Given the description of an element on the screen output the (x, y) to click on. 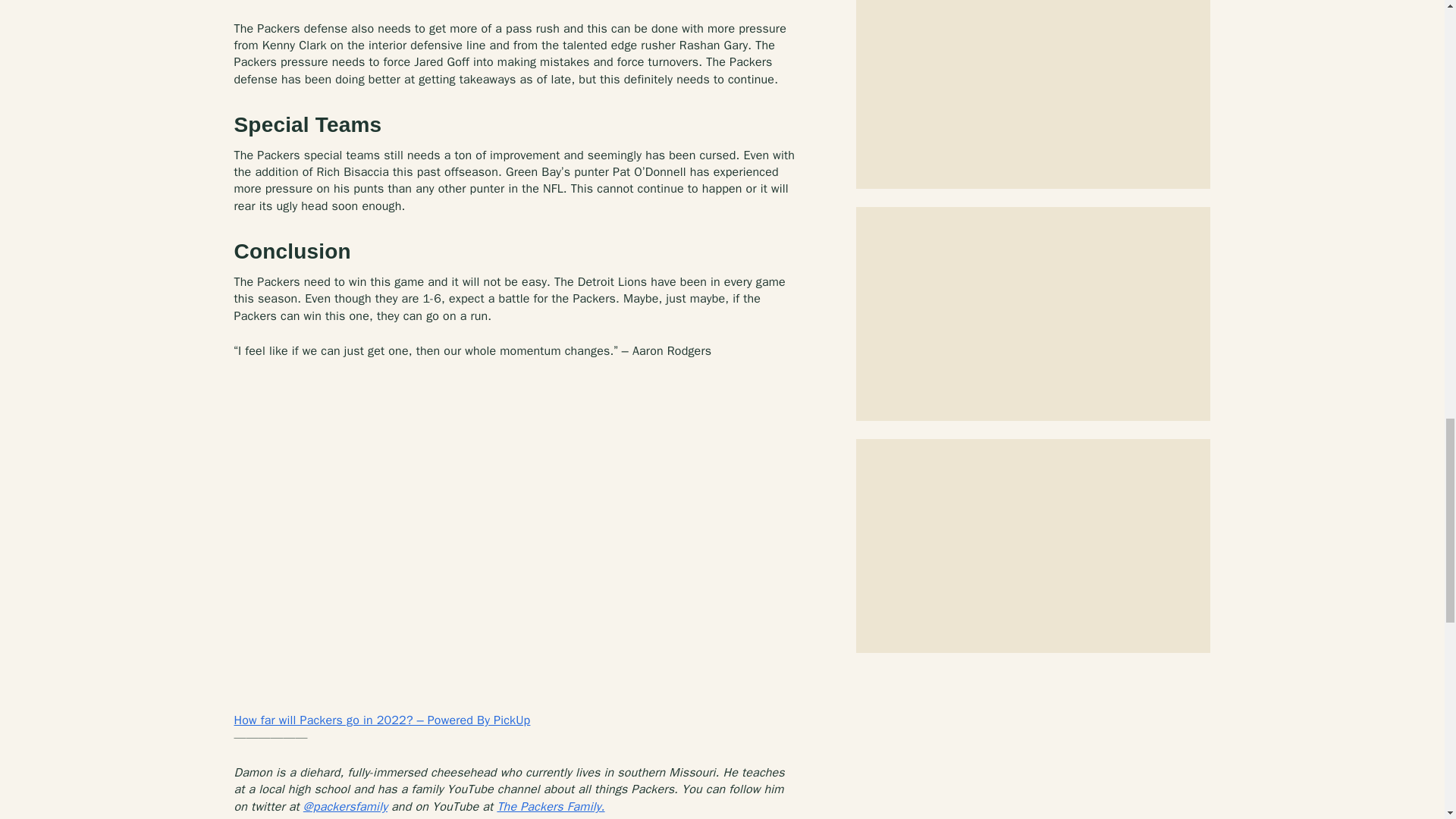
How far will Packers go in 2022? - Powered By PickUp (380, 720)
The Packers Family. (550, 806)
